Given the description of an element on the screen output the (x, y) to click on. 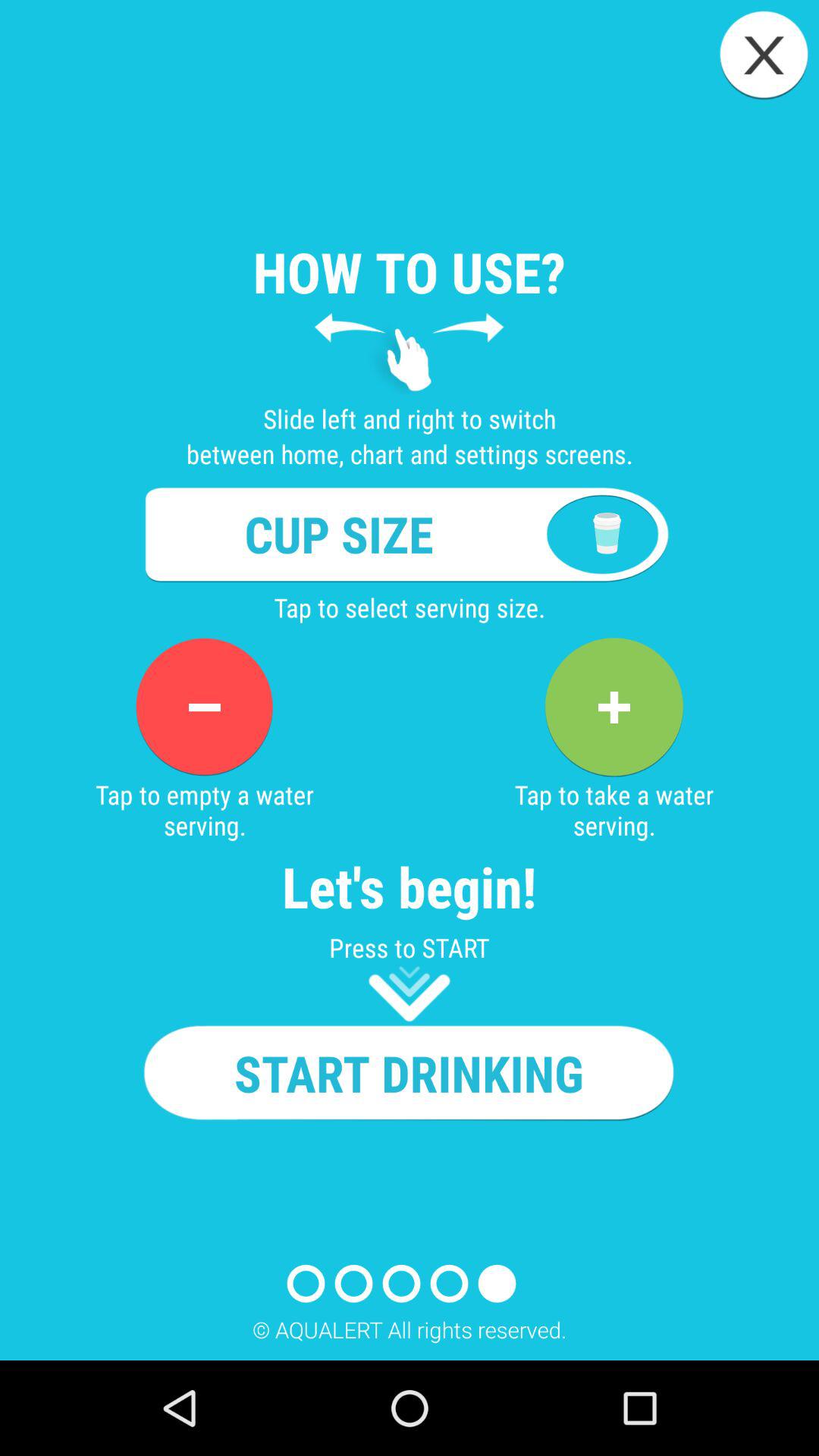
tap app to the right of the tap to empty (613, 706)
